Given the description of an element on the screen output the (x, y) to click on. 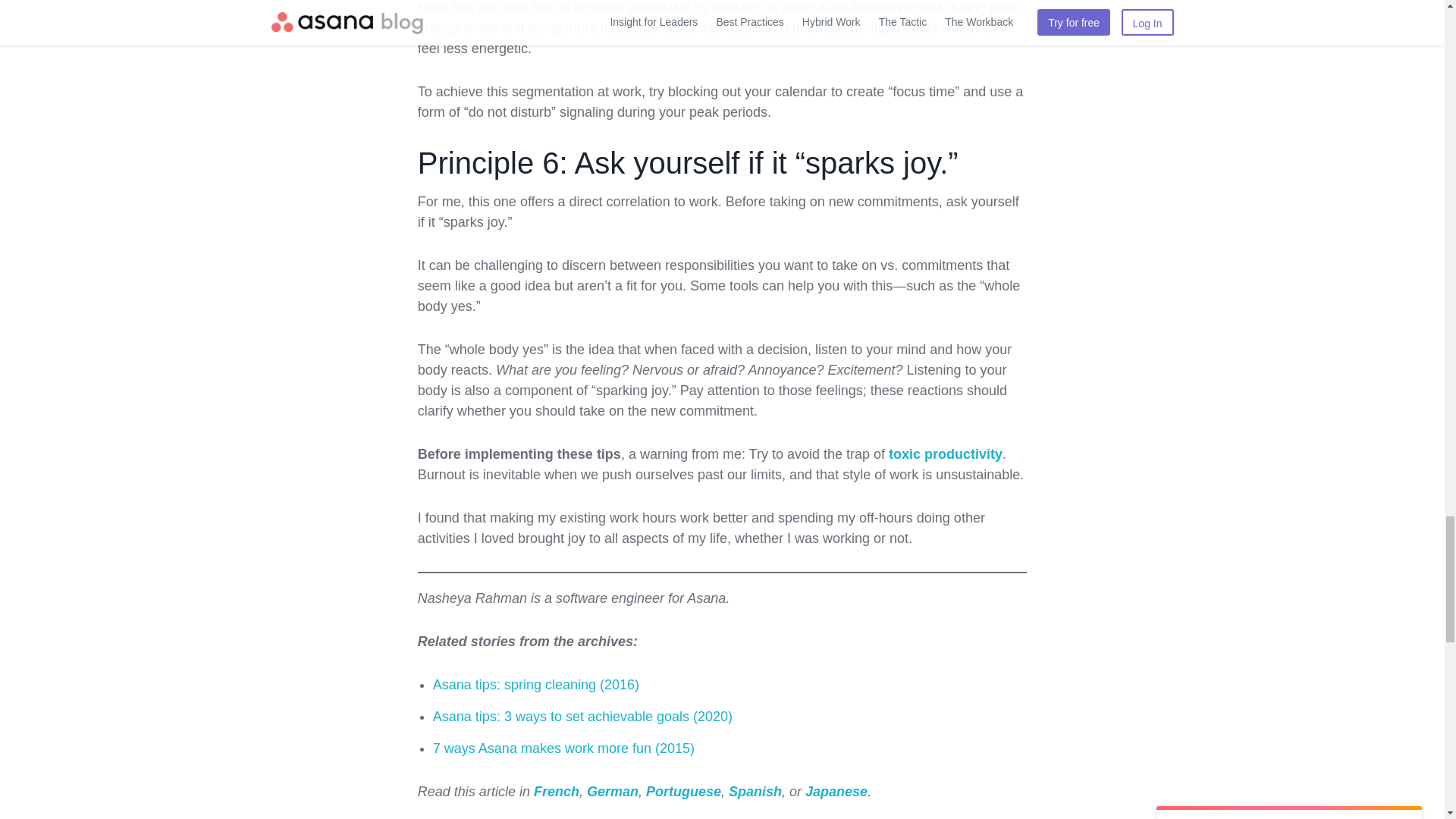
French (556, 791)
Portuguese (683, 791)
toxic productivity (945, 453)
German (612, 791)
